Given the description of an element on the screen output the (x, y) to click on. 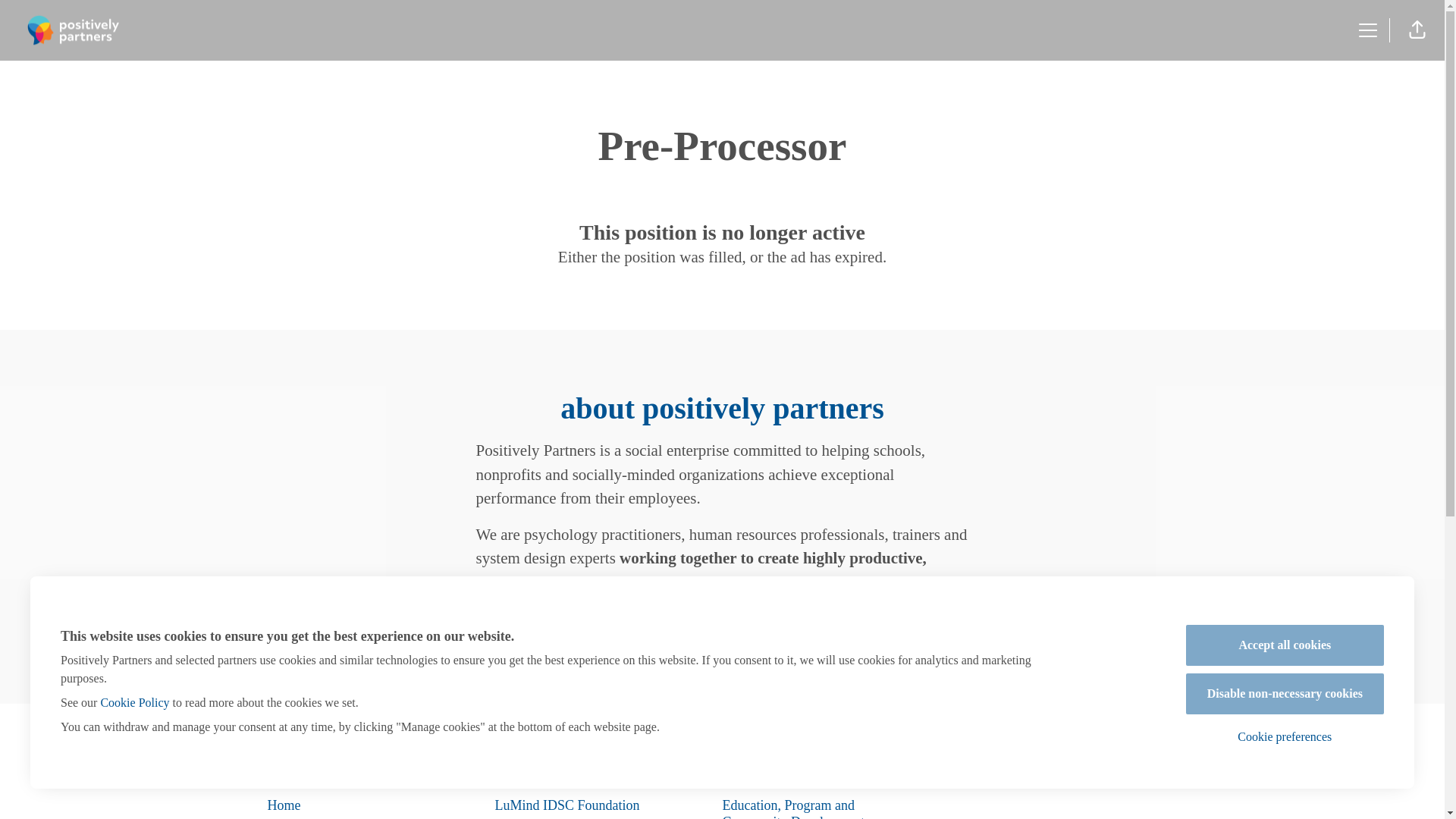
Cookie Policy (134, 702)
Career menu (1367, 30)
Disable non-necessary cookies (1285, 693)
Education, Program and Community Development (792, 806)
Cookie preferences (1284, 736)
Home (282, 804)
Share page (1417, 30)
Accept all cookies (1285, 644)
LuMind IDSC Foundation (567, 804)
